Given the description of an element on the screen output the (x, y) to click on. 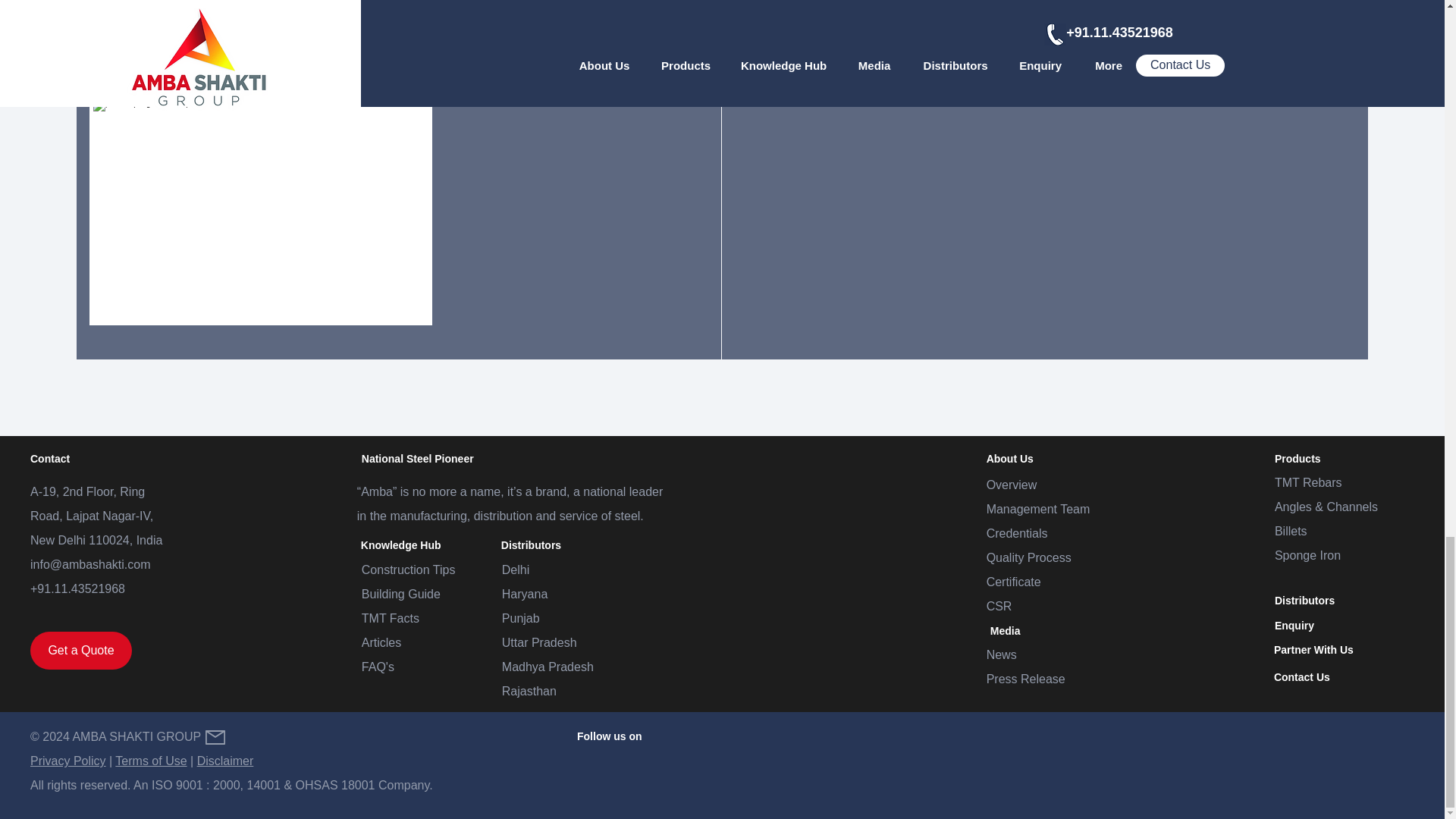
Articles (381, 642)
Building Guide (401, 594)
Construction Tips (408, 569)
Get a Quote (81, 650)
FAQ's (377, 666)
TMT Facts (390, 617)
Delhi (515, 569)
